Given the description of an element on the screen output the (x, y) to click on. 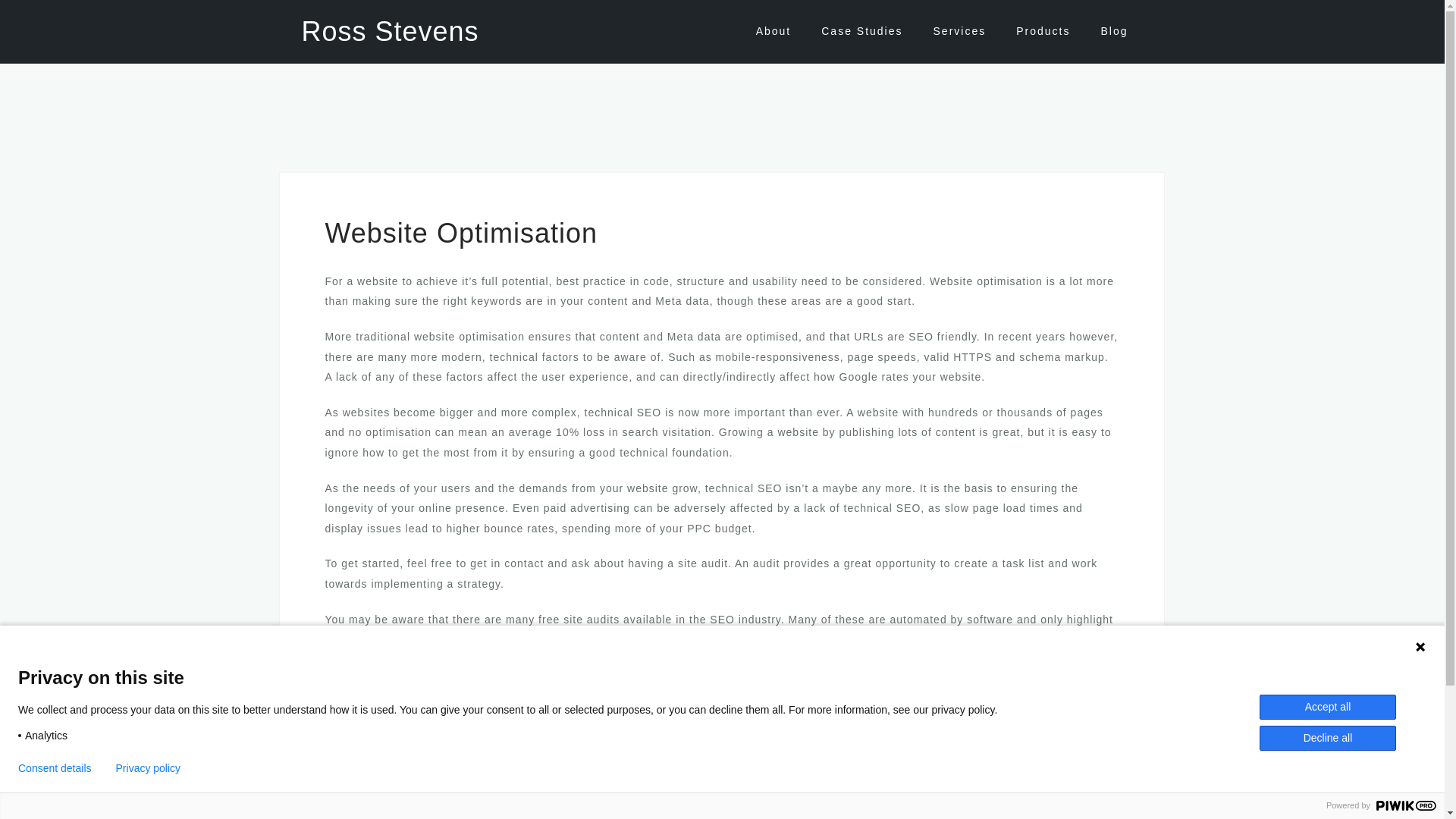
Ross Stevens (390, 30)
Decline all (1327, 738)
Consent details (54, 767)
Piwik PRO (1405, 805)
Accept all (1327, 706)
Privacy policy (148, 767)
Case Studies (861, 31)
Blog (1113, 31)
Services (960, 31)
Products (1043, 31)
About (773, 31)
